Given the description of an element on the screen output the (x, y) to click on. 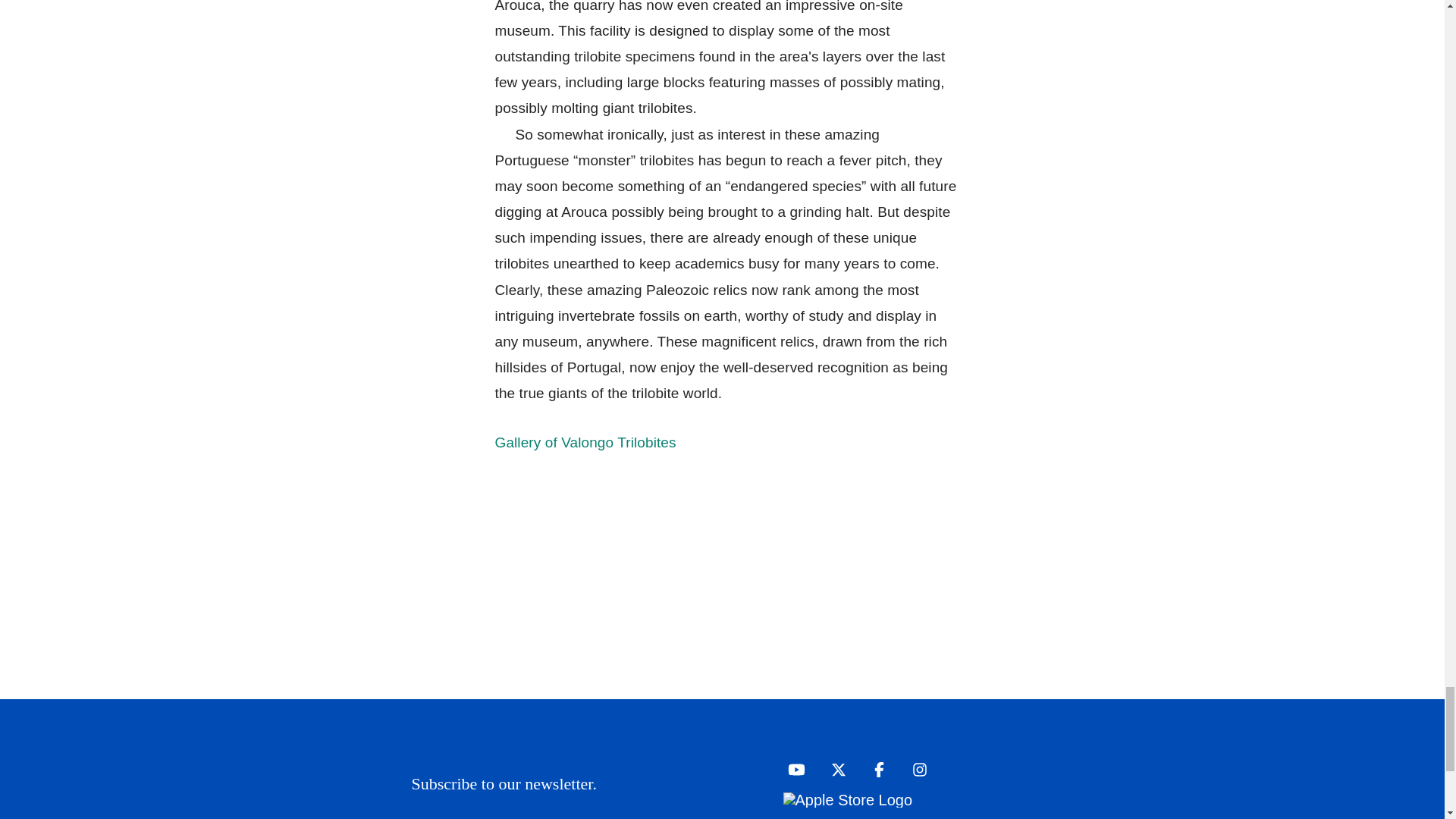
Instagram Profile (914, 769)
Download App on the Apple Store (847, 799)
Subscribe to our newsletter. (691, 784)
YouTube Channel (792, 769)
Twitter Profile (834, 769)
Facebook Profile (874, 769)
